Given the description of an element on the screen output the (x, y) to click on. 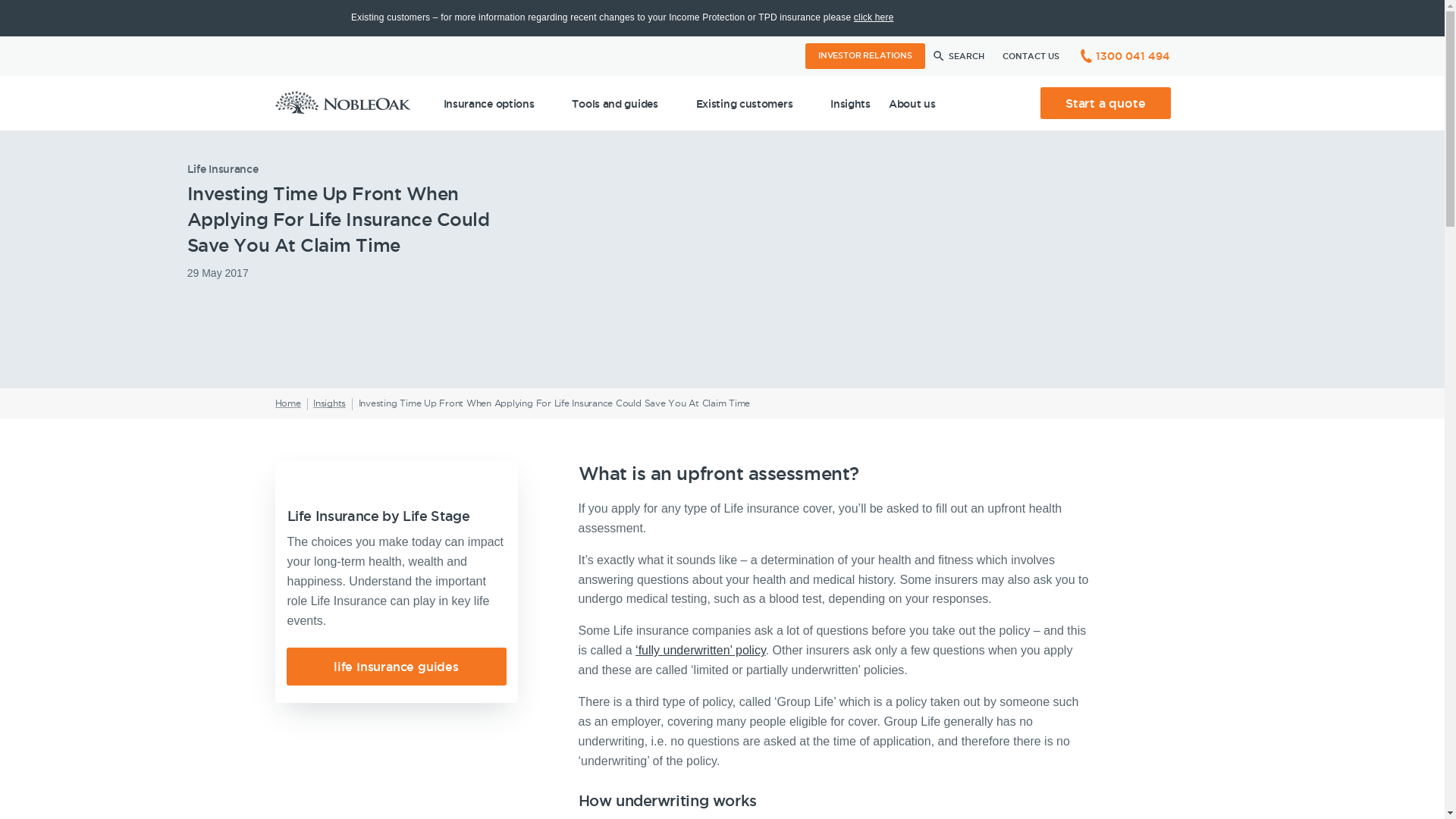
Insights Element type: text (329, 402)
Insights Element type: text (850, 102)
About us Element type: text (921, 102)
click here Element type: text (873, 17)
Insurance options Element type: text (497, 102)
INVESTOR RELATIONS Element type: text (864, 55)
CONTACT US Element type: text (1030, 55)
Home Element type: text (287, 402)
life Insurance guides Element type: text (395, 666)
Existing customers Element type: text (754, 102)
1300 041 494 Element type: text (1122, 56)
Tools and guides Element type: text (624, 102)
Start a quote Element type: text (1105, 102)
SEARCH Element type: text (957, 55)
